Given the description of an element on the screen output the (x, y) to click on. 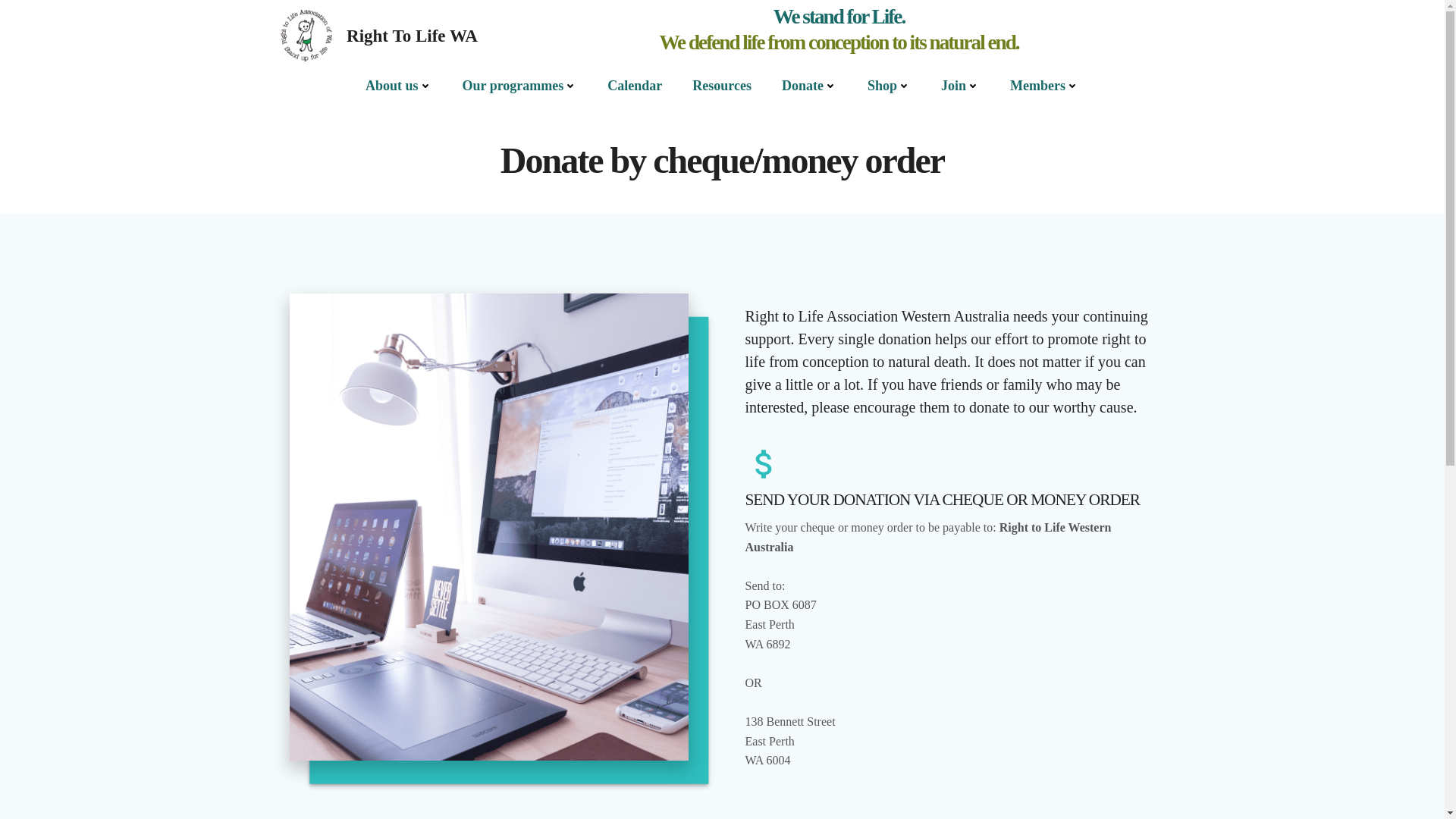
Join (959, 86)
About us (398, 86)
Right To Life WA (371, 35)
Calendar (634, 86)
Members (1044, 86)
Resources (722, 86)
Our programmes (520, 86)
Shop (889, 86)
Donate (809, 86)
